Given the description of an element on the screen output the (x, y) to click on. 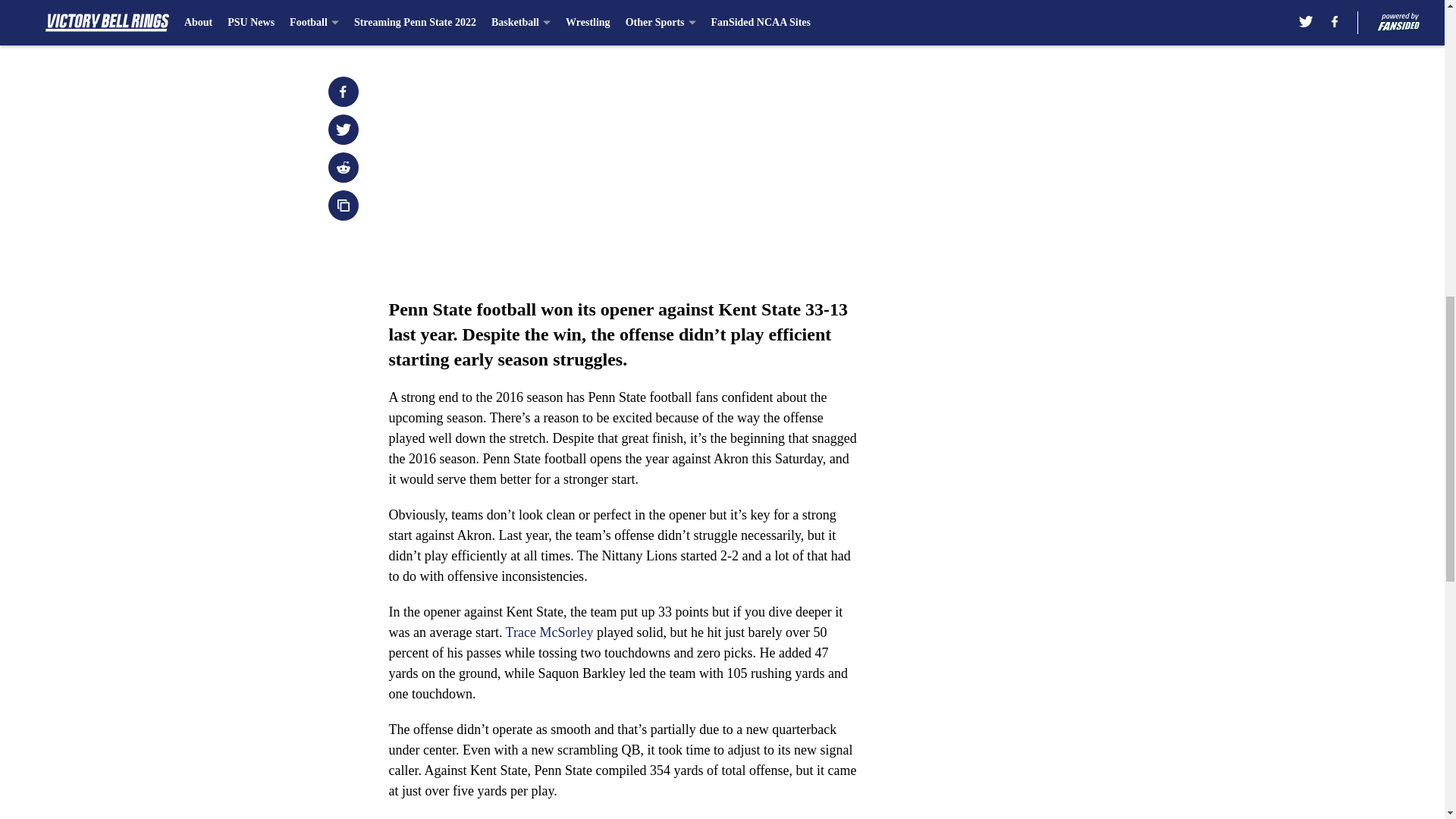
Trace McSorley (549, 631)
